Given the description of an element on the screen output the (x, y) to click on. 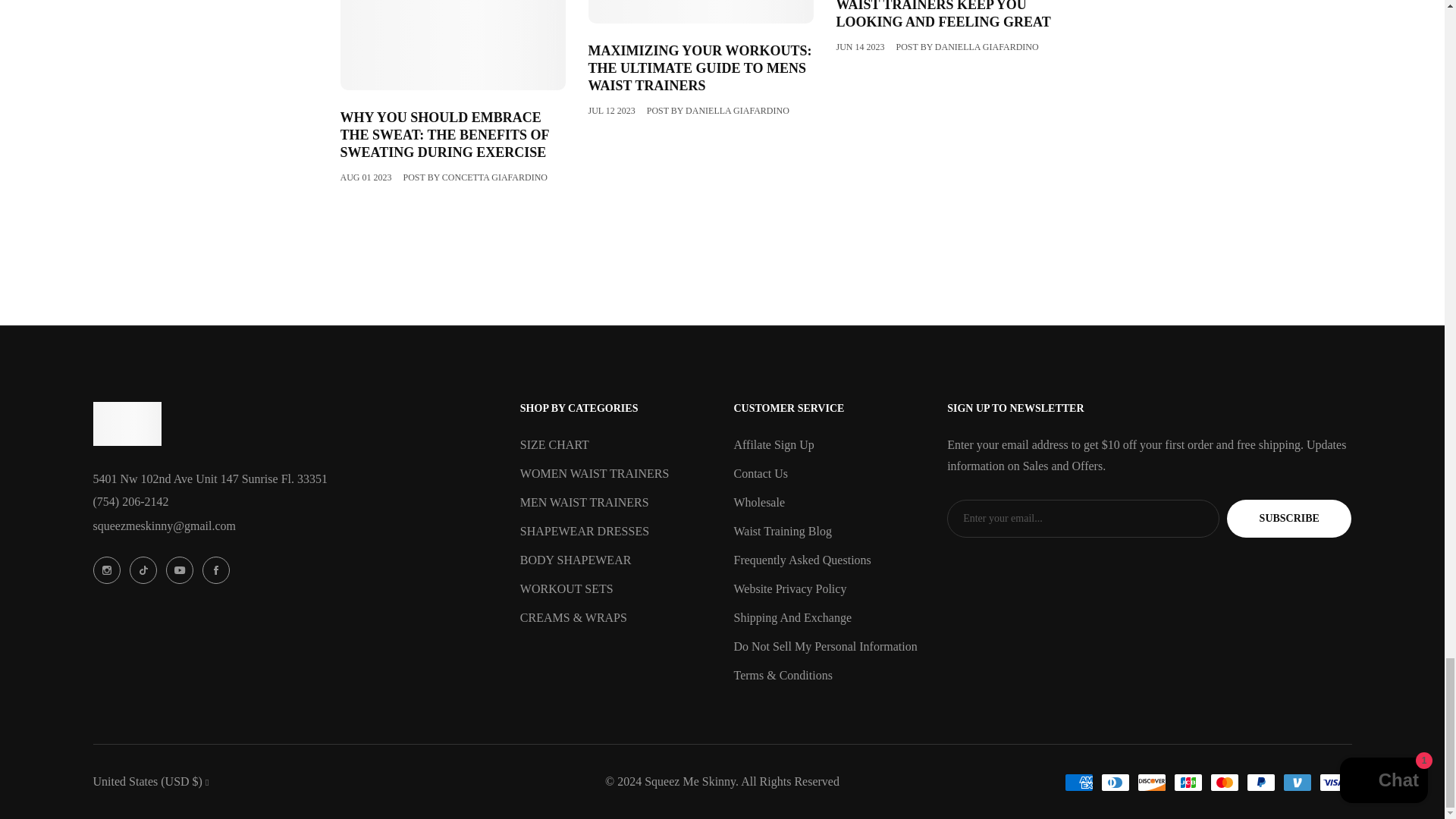
Discover (1151, 782)
Venmo (1296, 782)
JCB (1187, 782)
Mastercard (1224, 782)
American Express (1078, 782)
Diners Club (1114, 782)
PayPal (1260, 782)
Visa (1333, 782)
